Given the description of an element on the screen output the (x, y) to click on. 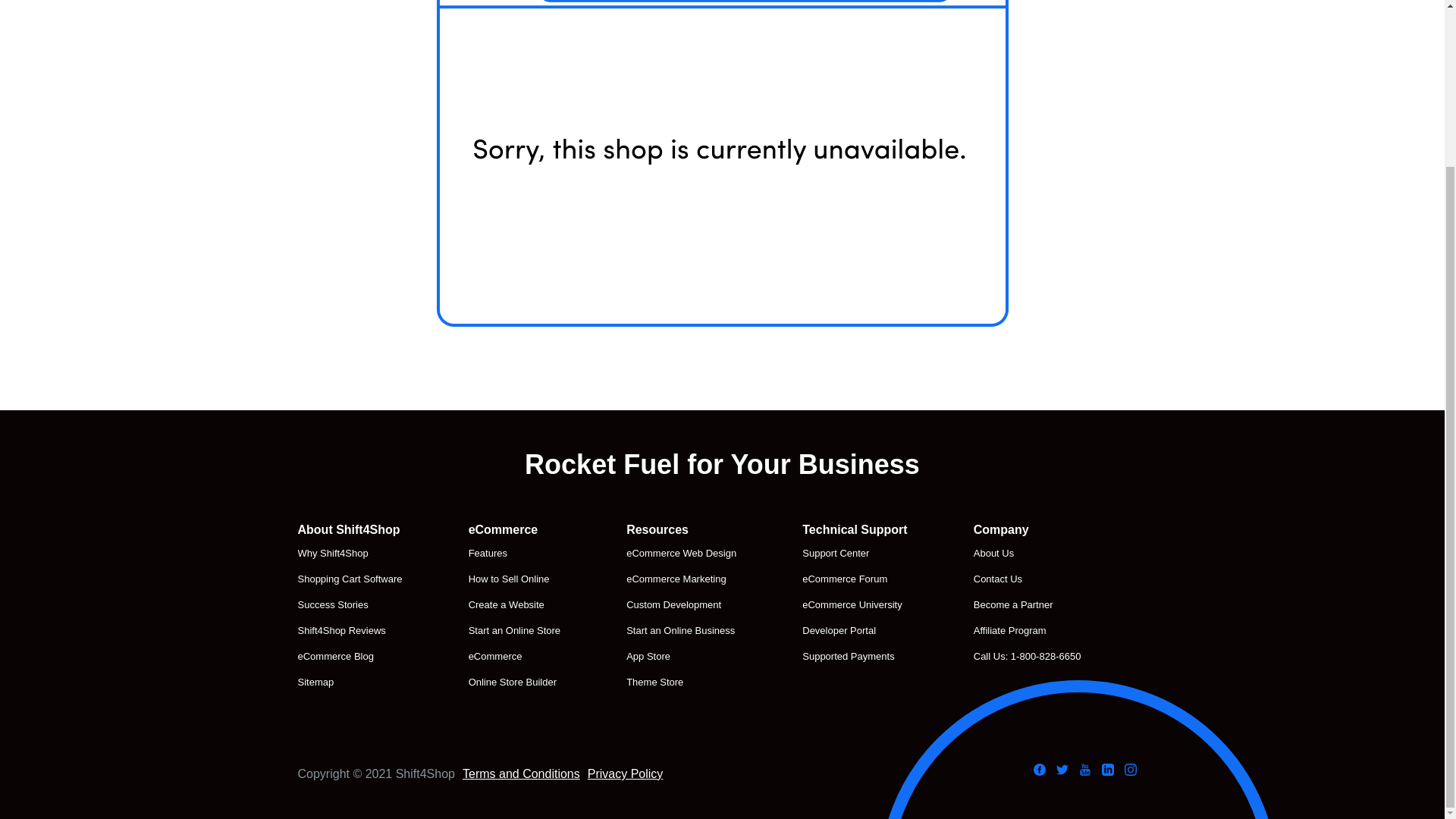
Contact Us (1027, 578)
Online Store Builder (514, 681)
Create a Website (514, 604)
Developer Portal (854, 630)
Support Center (854, 553)
Start an Online Business (681, 630)
Terms and Conditions (521, 773)
Privacy Policy (625, 773)
About Us (1027, 553)
Theme Store (681, 681)
eCommerce Web Design (681, 553)
Success Stories (349, 604)
eCommerce Blog (349, 656)
Affiliate Program (1027, 630)
Become a Partner (1027, 604)
